Given the description of an element on the screen output the (x, y) to click on. 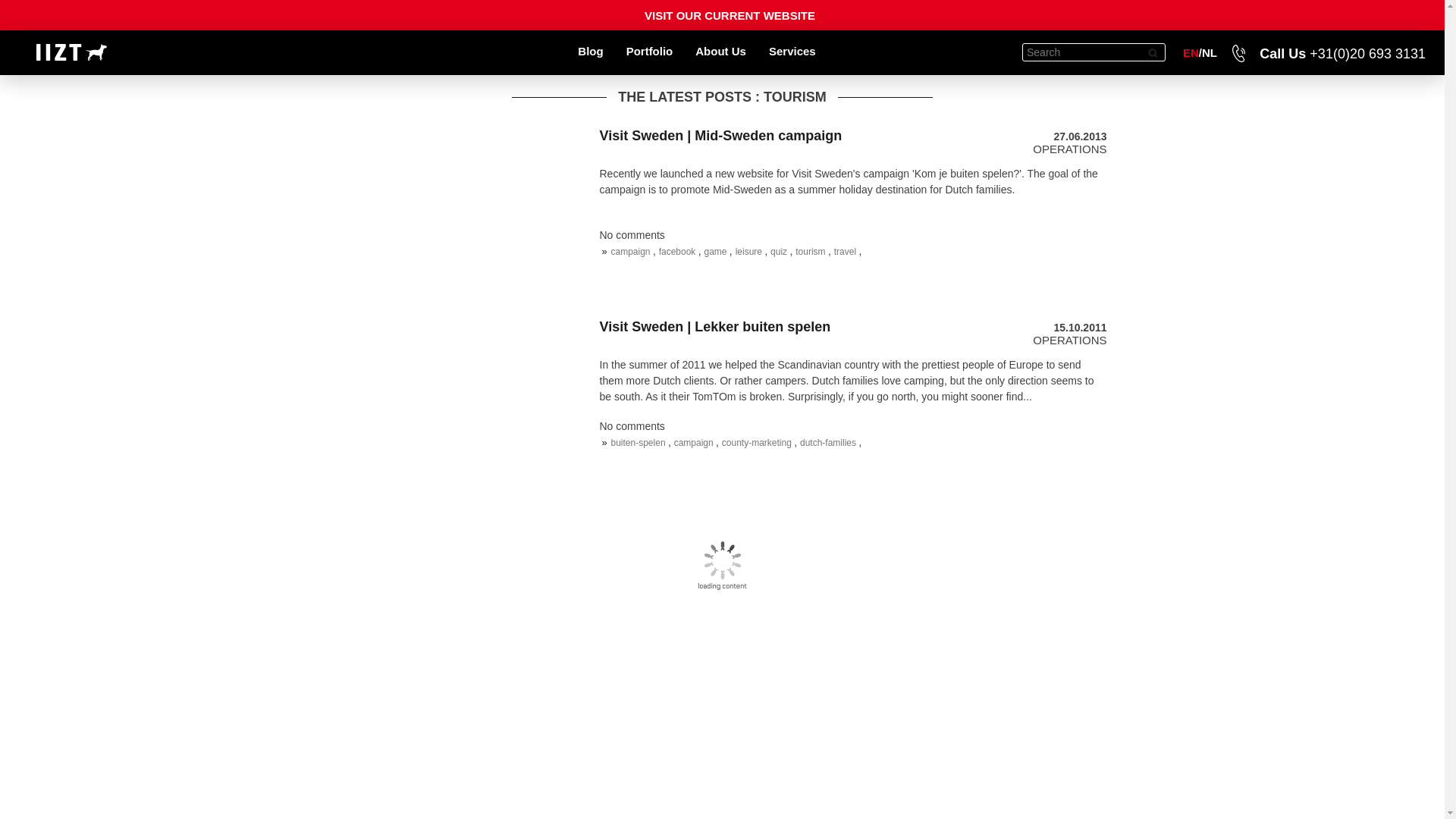
buiten-spelen (639, 442)
game (716, 251)
leisure (750, 251)
travel (846, 251)
dutch-families (829, 442)
county-marketing (757, 442)
EN (1190, 51)
Blog (590, 57)
Blog (590, 57)
IIZT (71, 52)
